Given the description of an element on the screen output the (x, y) to click on. 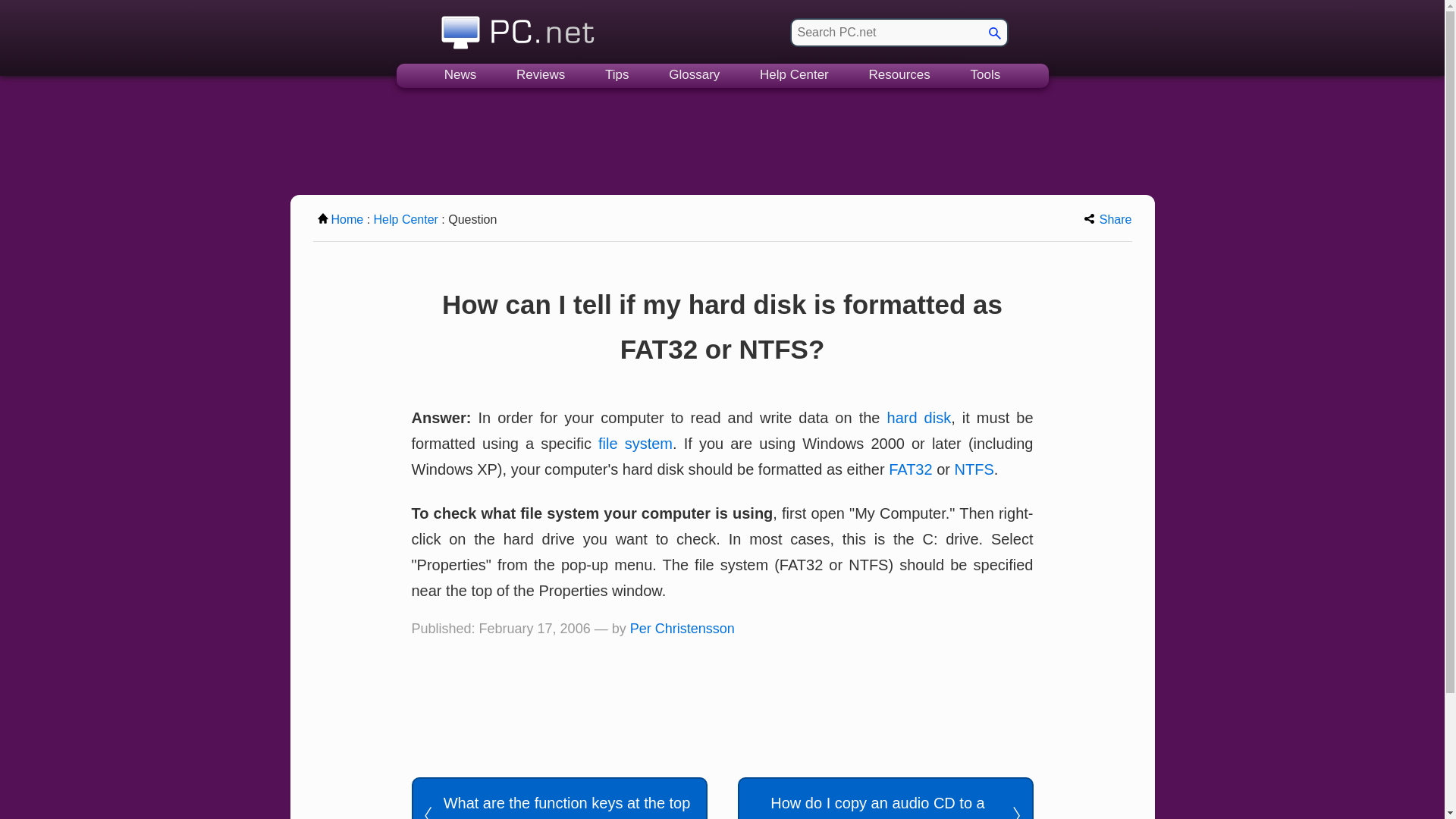
Home (340, 219)
file system (635, 443)
Per Christensson (682, 628)
Glossary (694, 75)
PC.net (517, 28)
Reviews (540, 75)
Tips (616, 75)
What are the function keys at the top of my keyboard for? (558, 798)
FAT32 (909, 469)
News (460, 75)
Share (1108, 219)
NTFS (974, 469)
Tools (985, 75)
Help Center (406, 219)
Help Center (794, 75)
